Given the description of an element on the screen output the (x, y) to click on. 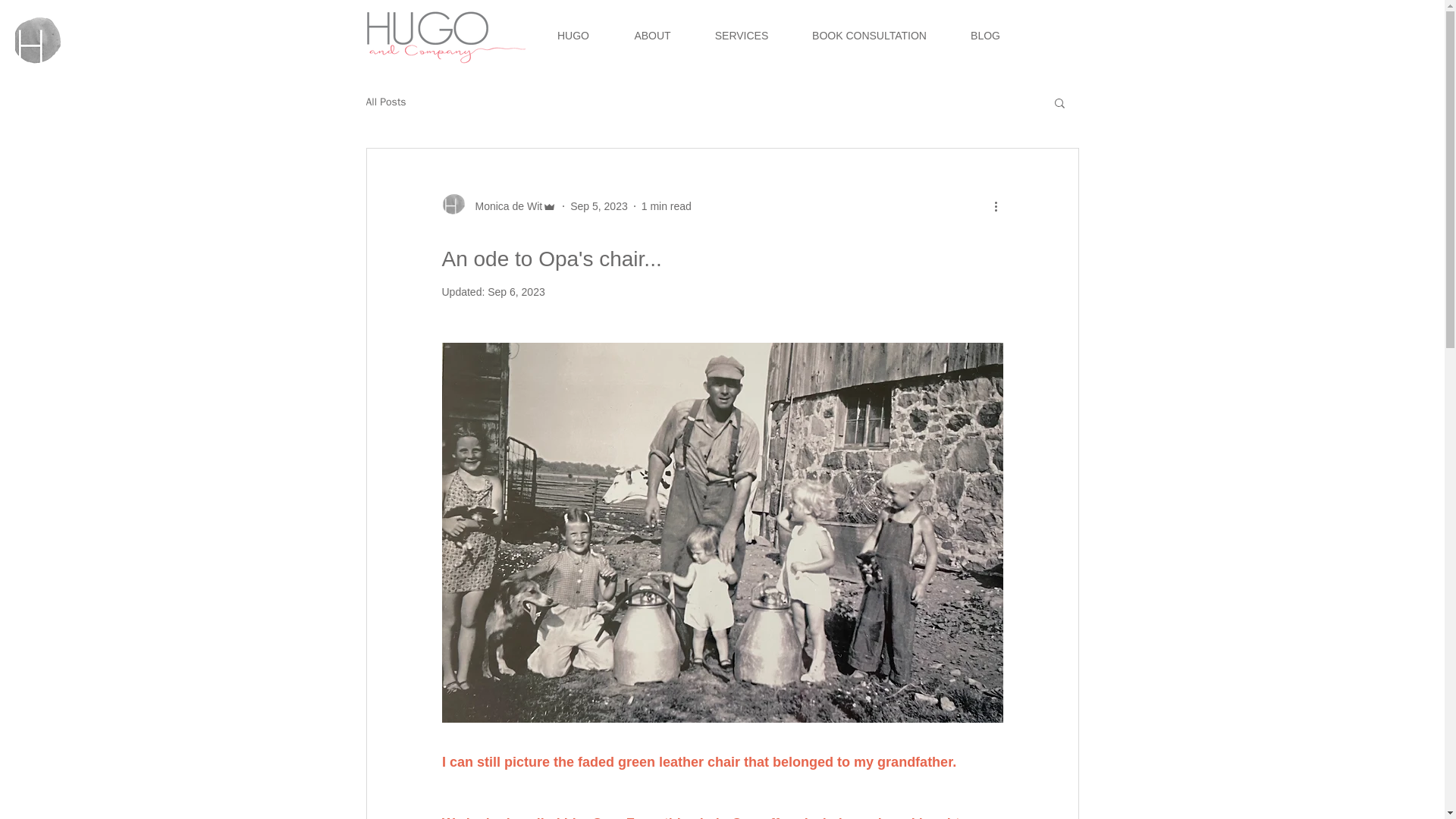
Sep 5, 2023 (598, 205)
BLOG (985, 35)
Monica  de Wit (503, 206)
ABOUT (652, 35)
Move Management and Transition (444, 35)
Sep 6, 2023 (515, 291)
1 min read (666, 205)
All Posts (385, 101)
HUGO AN COMPANY LOO (37, 40)
BOOK CONSULTATION (869, 35)
HUGO (573, 35)
SERVICES (741, 35)
Monica de Wit (498, 206)
